Given the description of an element on the screen output the (x, y) to click on. 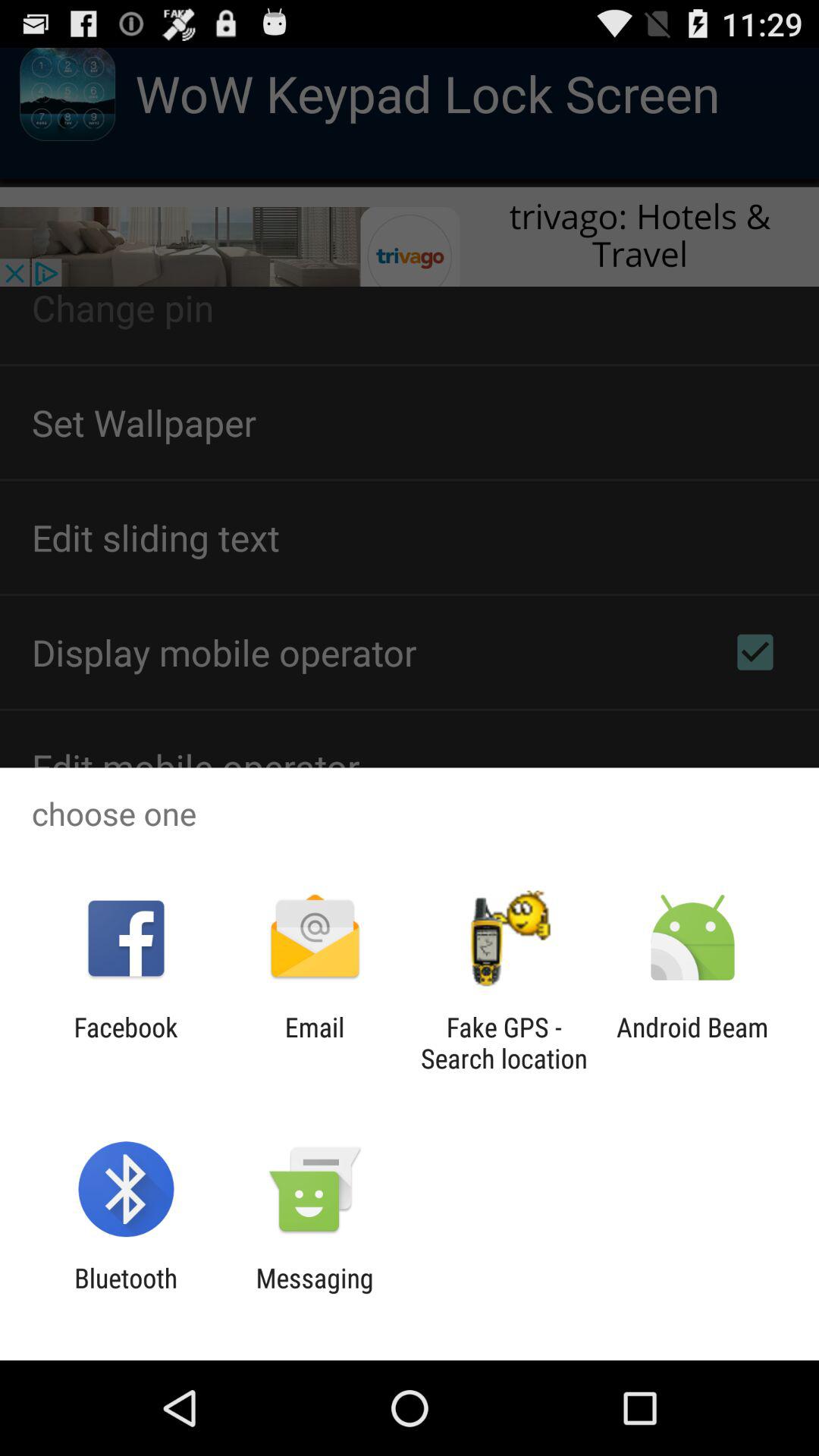
click item at the bottom right corner (692, 1042)
